Given the description of an element on the screen output the (x, y) to click on. 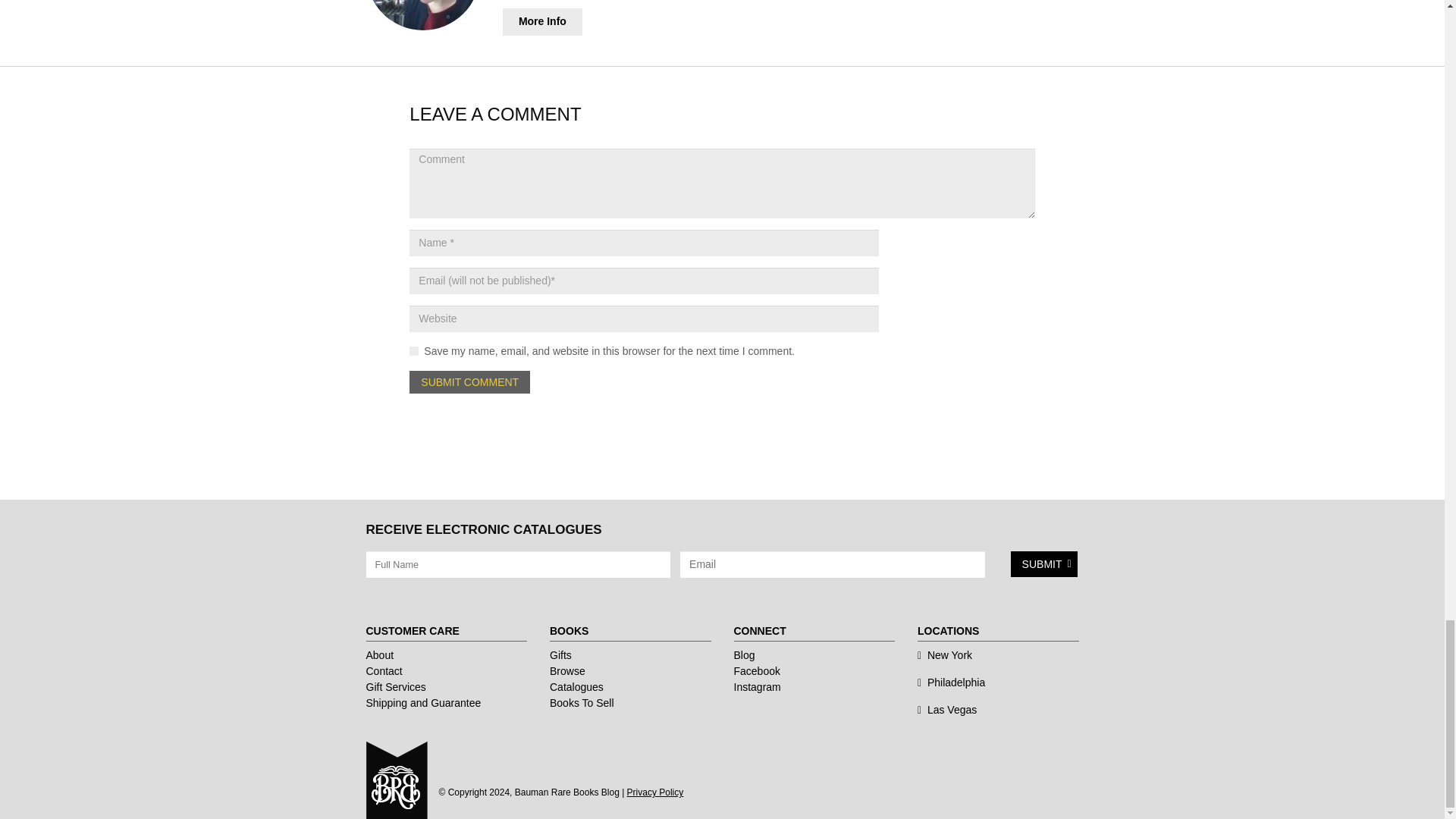
Submit (1043, 564)
SUBMIT COMMENT (469, 382)
